Given the description of an element on the screen output the (x, y) to click on. 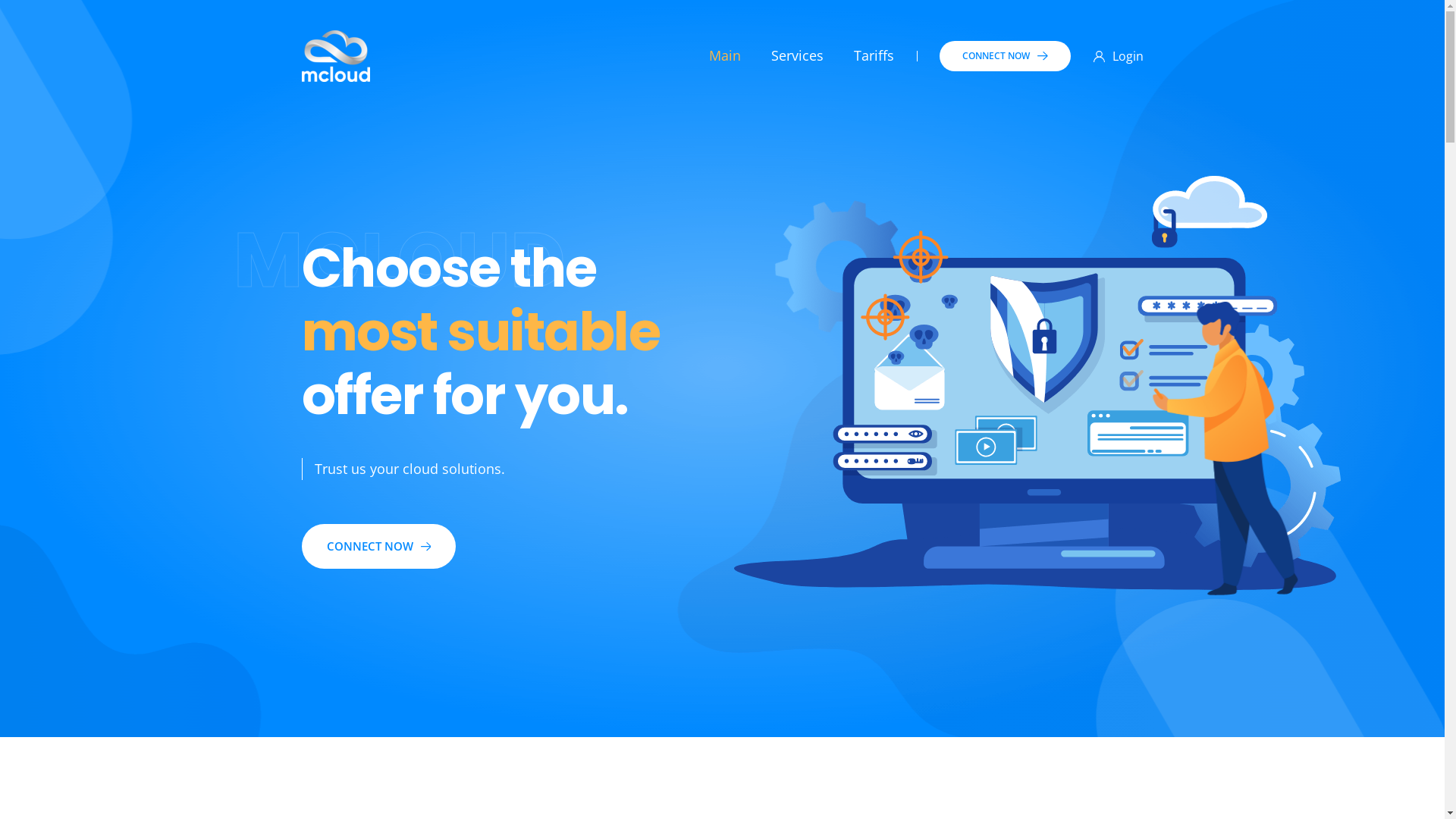
Main Element type: text (724, 55)
CONNECT NOW Element type: text (1004, 55)
Services Element type: text (797, 55)
Login Element type: text (1118, 55)
CONNECT NOW Element type: text (378, 546)
Tariffs Element type: text (873, 55)
